Given the description of an element on the screen output the (x, y) to click on. 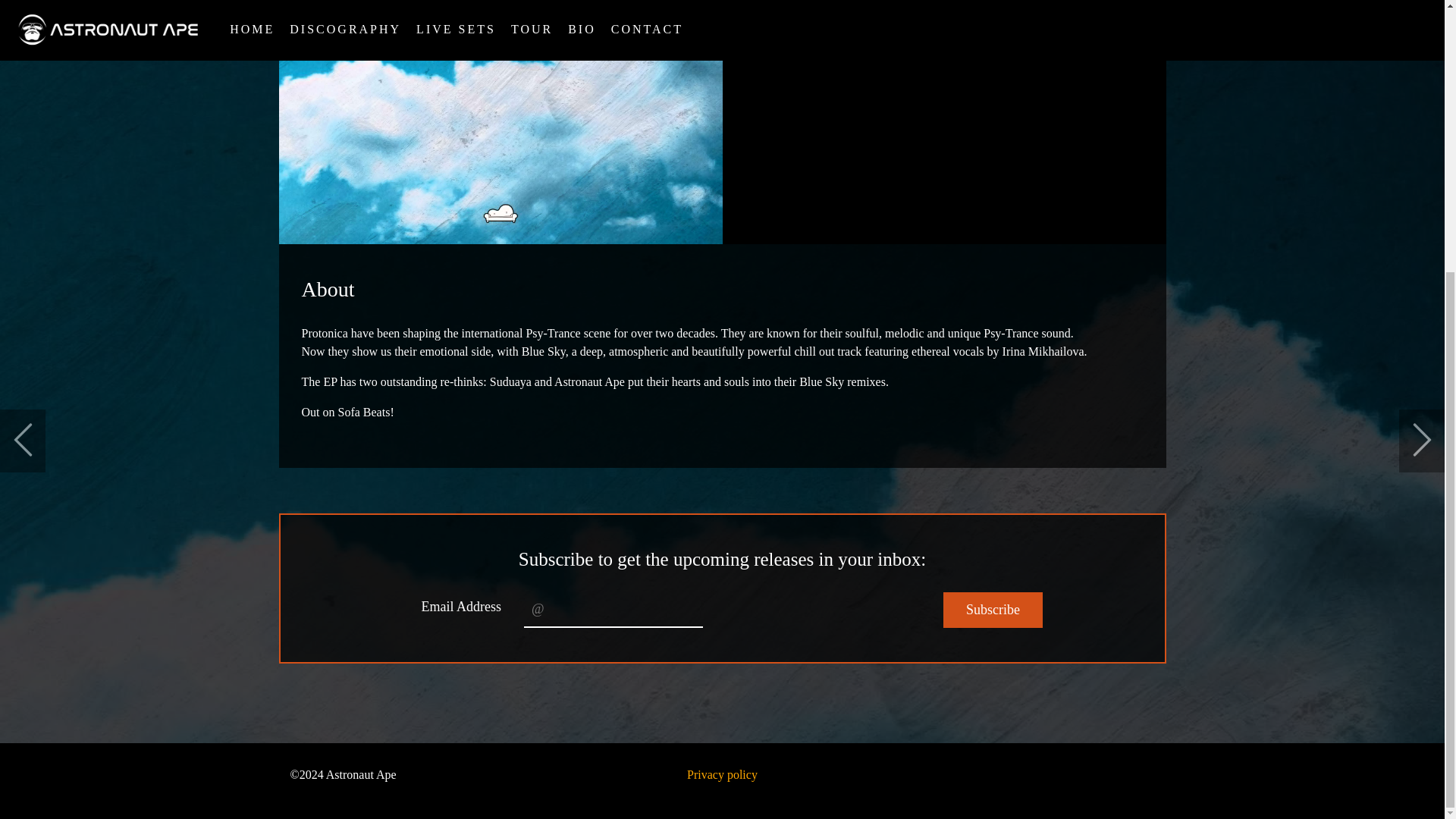
Subscribe (992, 610)
Subscribe (992, 610)
Privacy policy (722, 775)
